Given the description of an element on the screen output the (x, y) to click on. 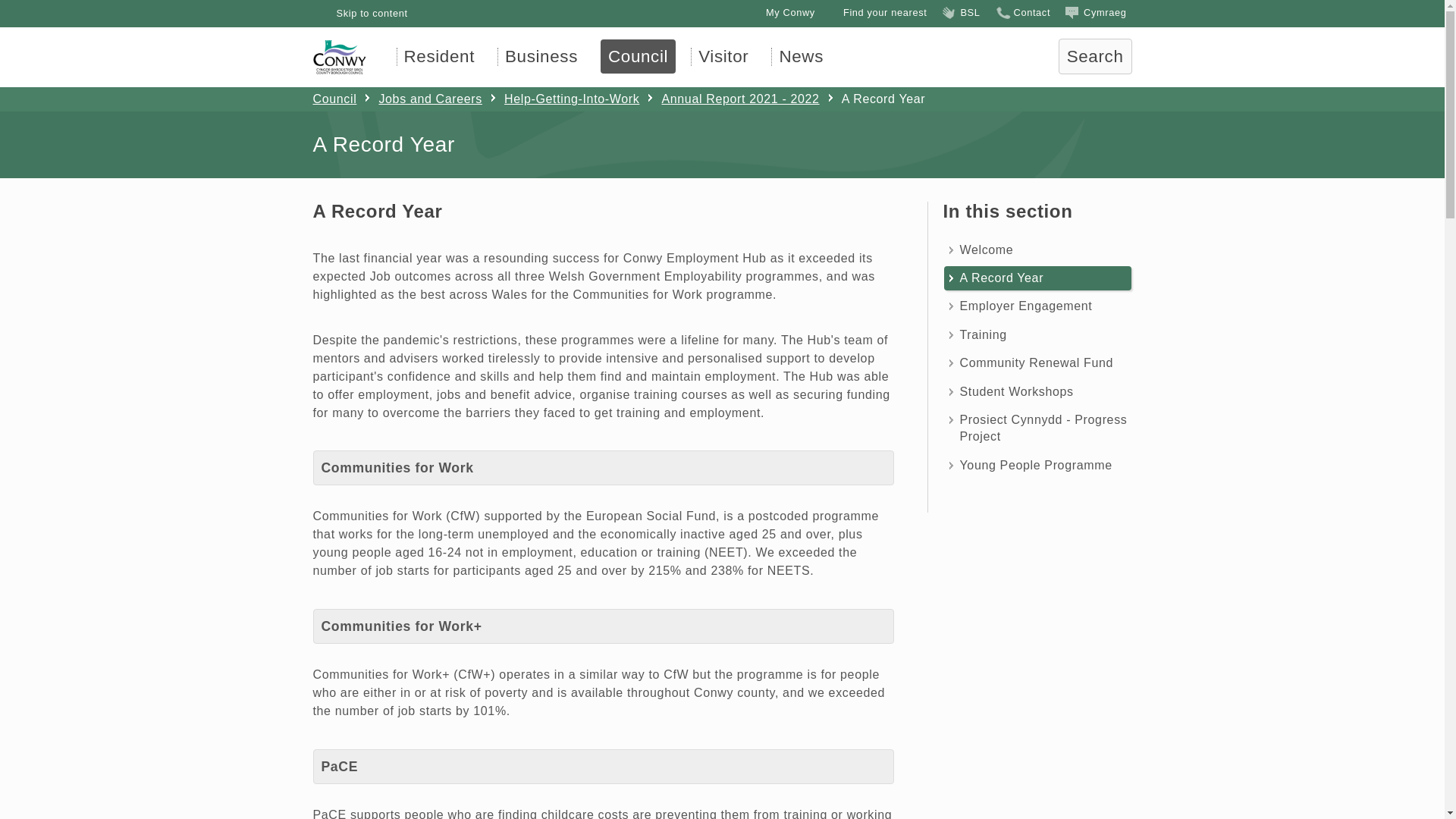
Jobs and Careers (420, 98)
Go to Help-Getting-Into-Work from here (562, 98)
Go to Resident from here (438, 56)
Visitor (722, 56)
BSL (960, 11)
Go to Jobs and Careers from here (420, 98)
Go to Council from here (637, 56)
Student Workshops (1037, 392)
Business (541, 56)
My Conwy (781, 12)
Search (1095, 56)
Annual Report 2021 - 2022 (730, 98)
Cymraeg (1095, 11)
Find your nearest (875, 11)
Council (334, 98)
